Given the description of an element on the screen output the (x, y) to click on. 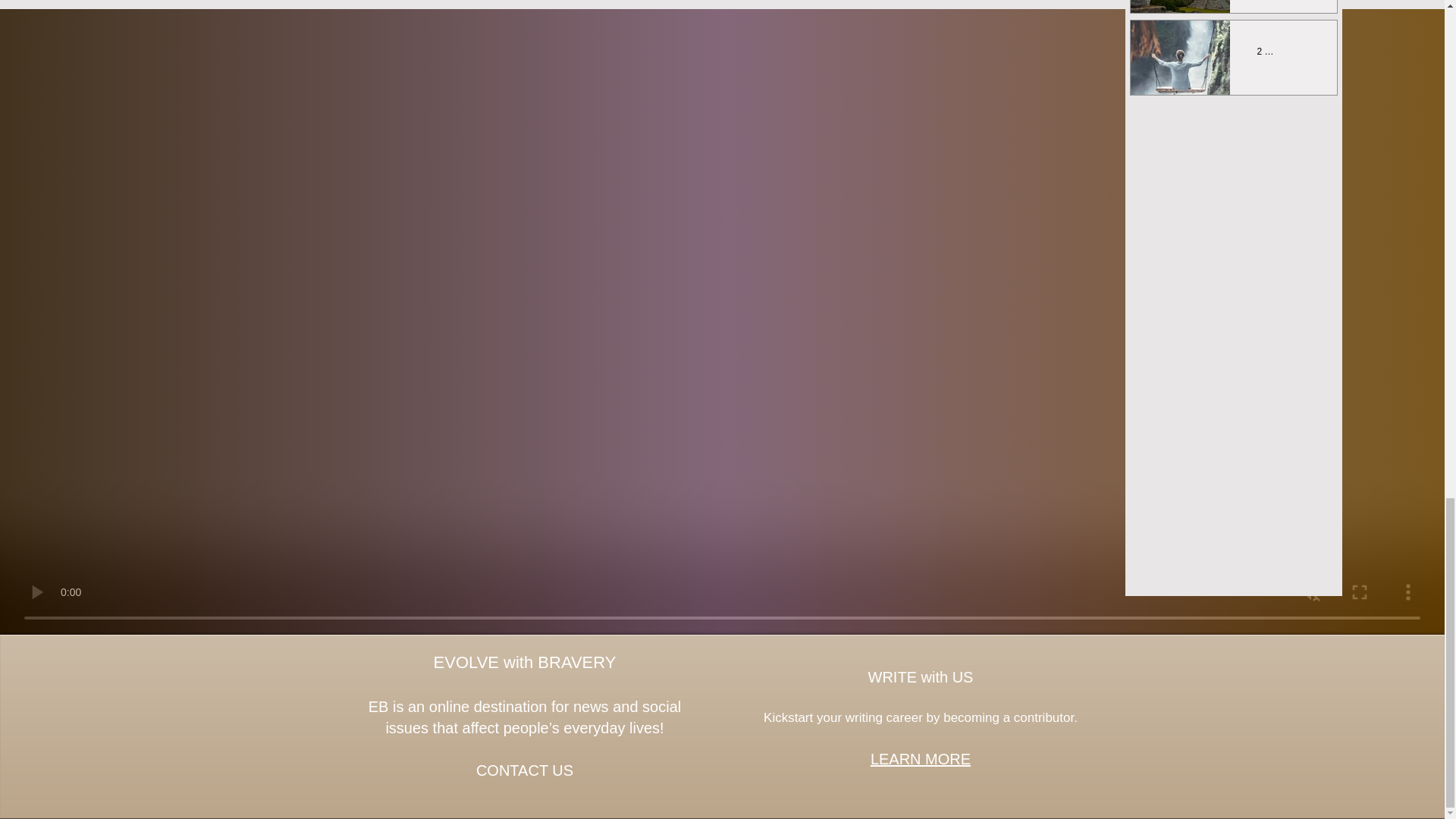
2 min (1268, 50)
